Given the description of an element on the screen output the (x, y) to click on. 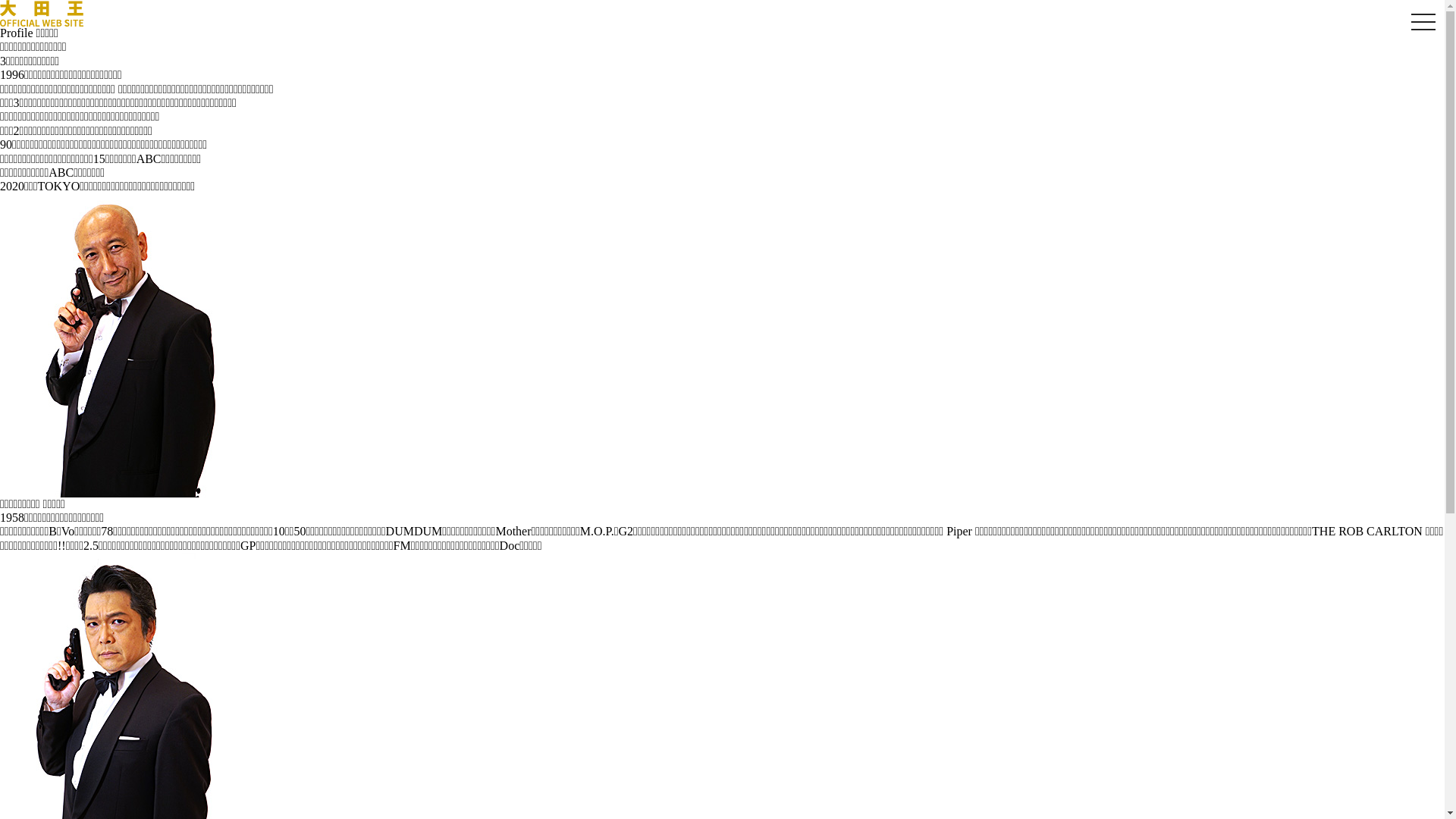
toggle navigation Element type: text (1423, 22)
